Given the description of an element on the screen output the (x, y) to click on. 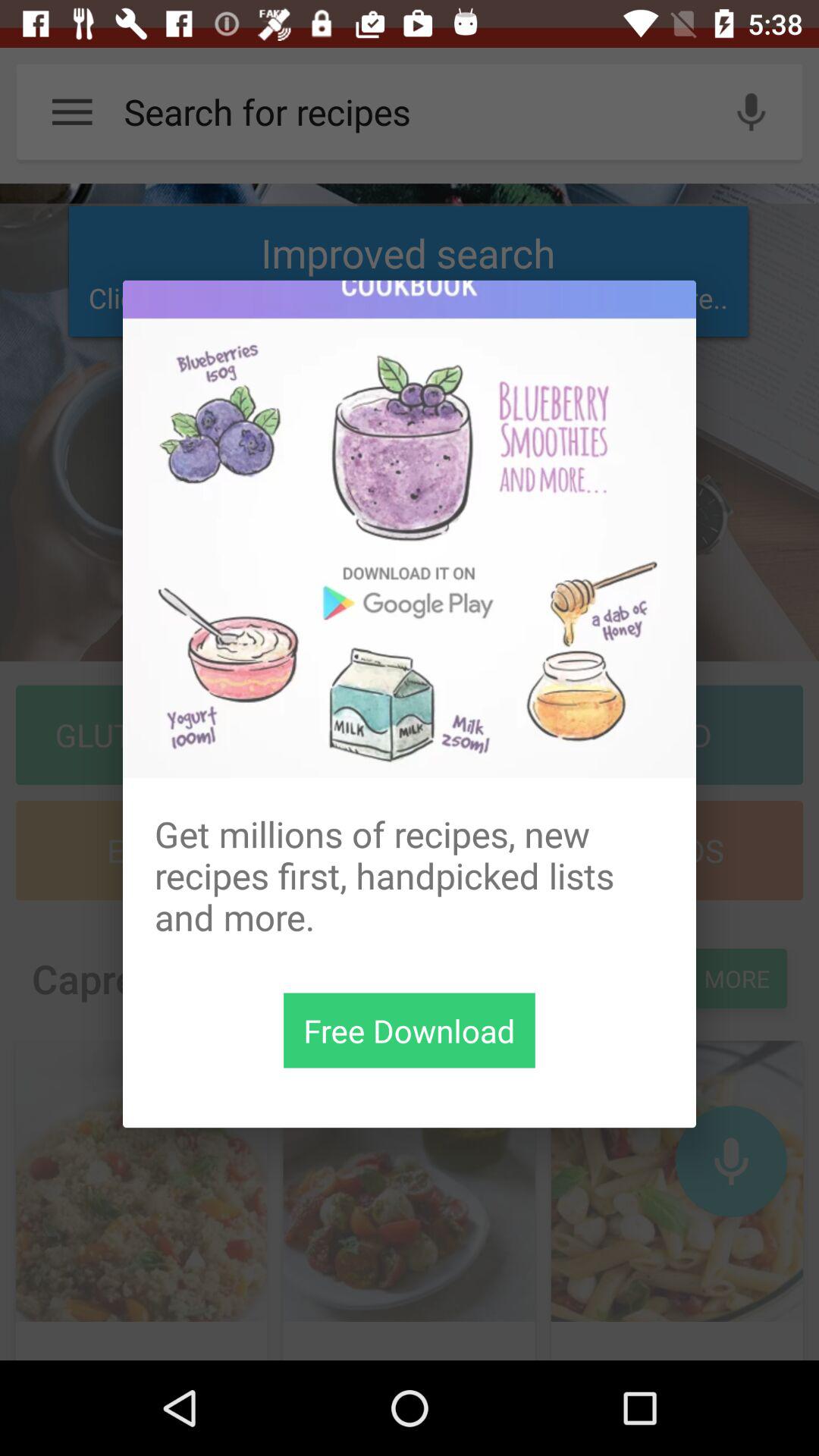
go to the partner 's website (409, 529)
